Given the description of an element on the screen output the (x, y) to click on. 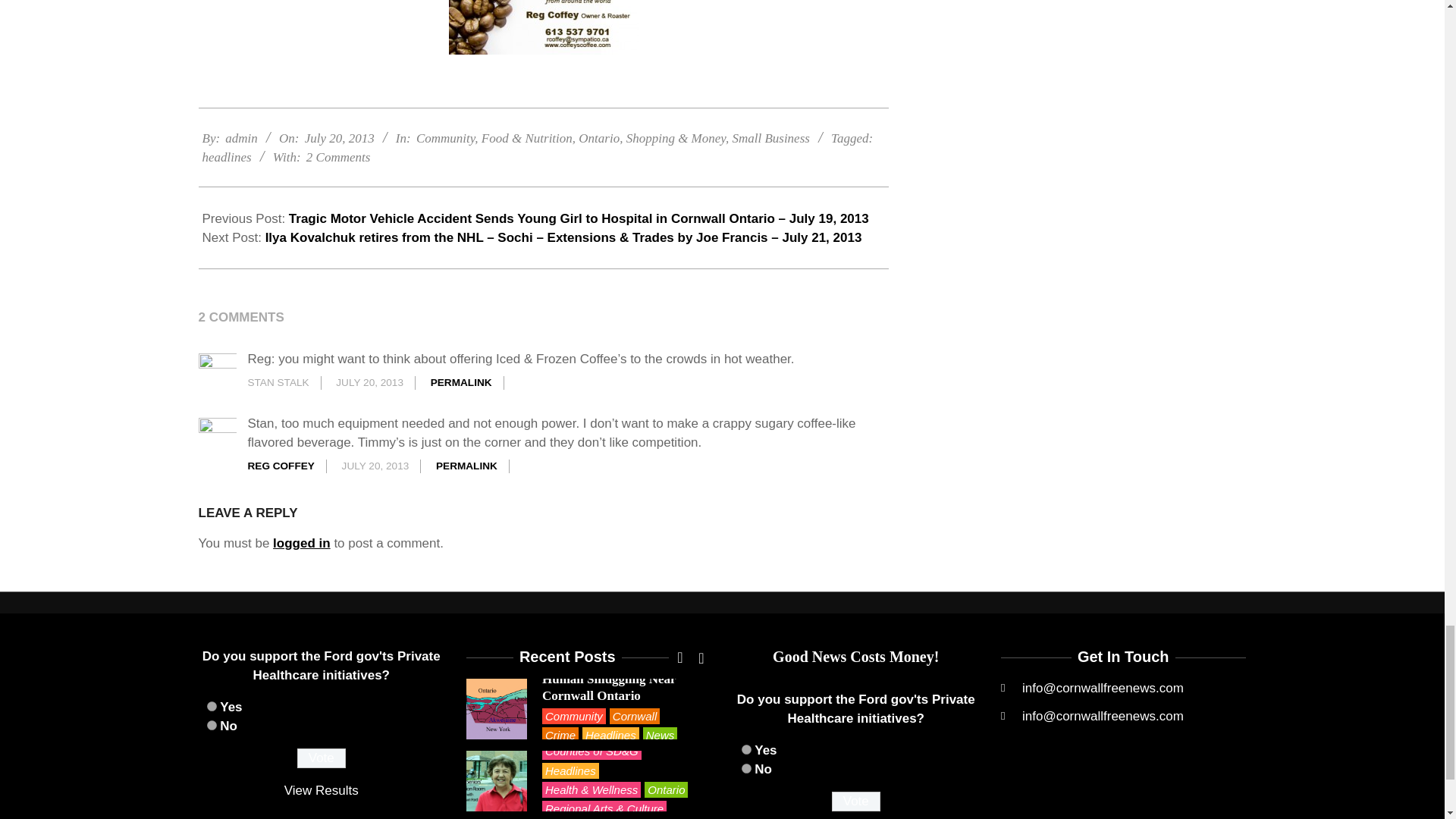
1777 (210, 725)
1777 (746, 768)
Saturday, July 20, 2013, 5:03 pm (375, 465)
Posts by admin (241, 138)
   Vote    (855, 801)
View Results Of This Poll (320, 789)
   Vote    (321, 758)
1776 (210, 706)
1776 (746, 749)
Saturday, July 20, 2013, 12:45 pm (369, 382)
Saturday, July 20, 2013, 11:42 am (339, 138)
